Given the description of an element on the screen output the (x, y) to click on. 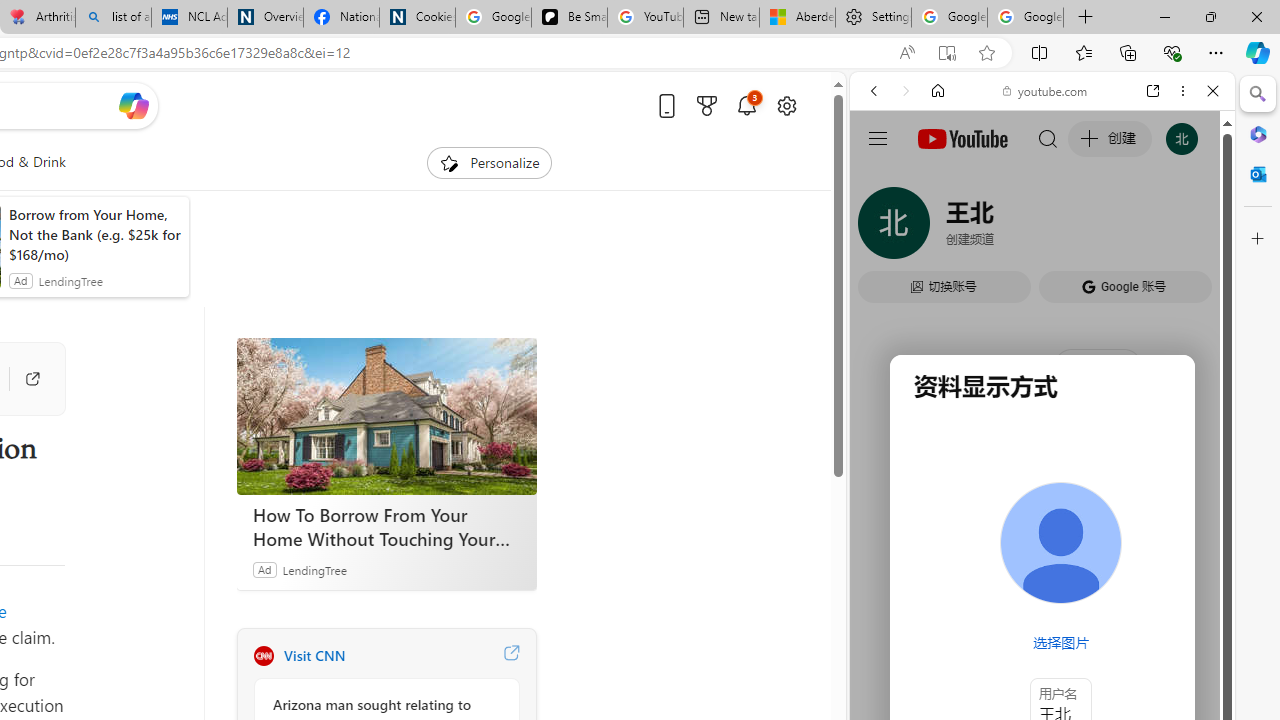
Music (1042, 543)
Borrow from Your Home, Not the Bank (e.g. $25k for $168/mo) (93, 234)
youtube.com (1046, 90)
